Given the description of an element on the screen output the (x, y) to click on. 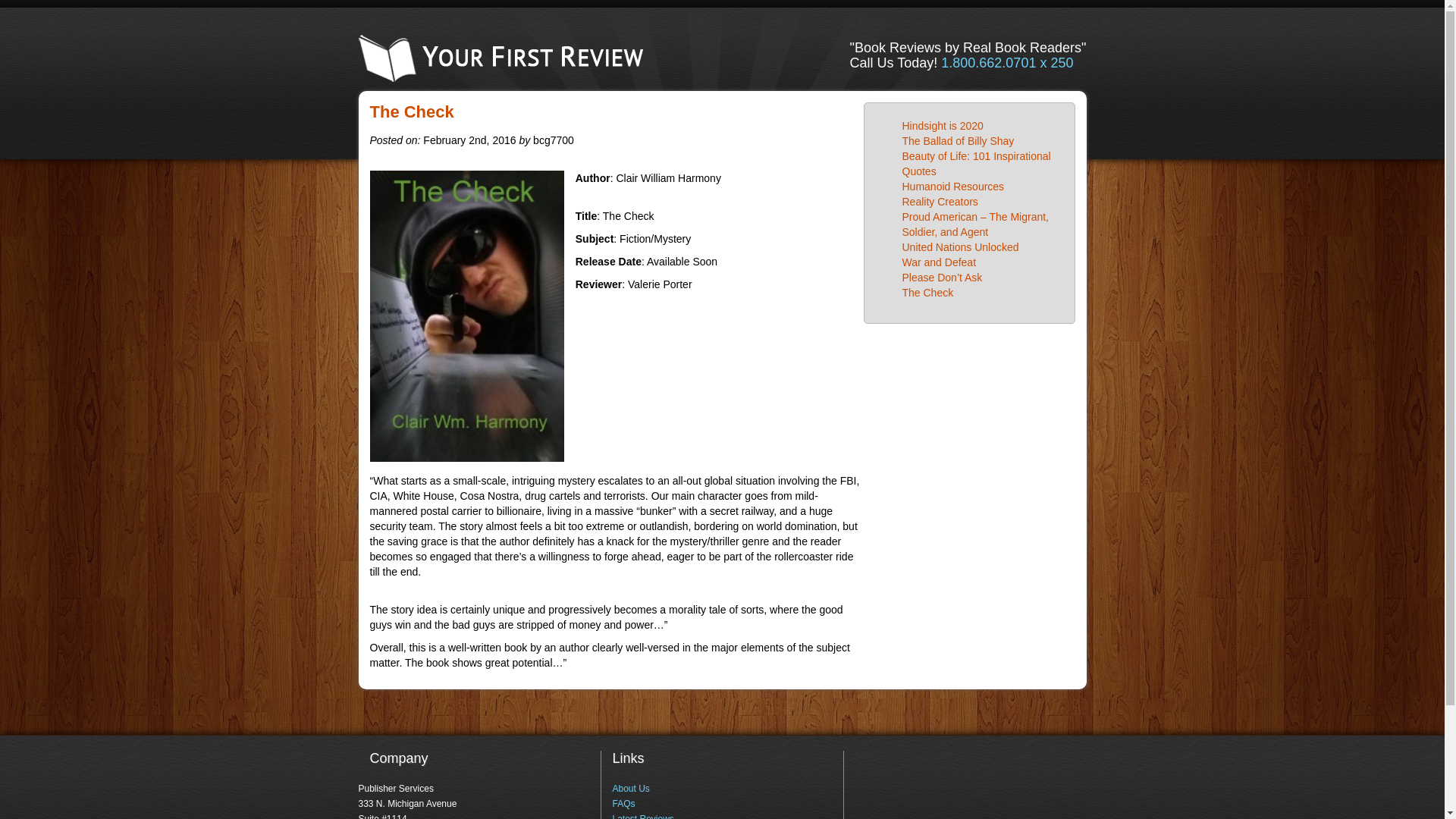
Latest Reviews (641, 816)
United Nations Unlocked (960, 246)
War and Defeat (939, 262)
The Ballad of Billy Shay (958, 141)
Hindsight is 2020 (943, 125)
Beauty of Life: 101 Inspirational Quotes (976, 163)
About Us (630, 787)
The Check (927, 292)
Reality Creators (940, 201)
Humanoid Resources (953, 186)
FAQs (622, 803)
